Given the description of an element on the screen output the (x, y) to click on. 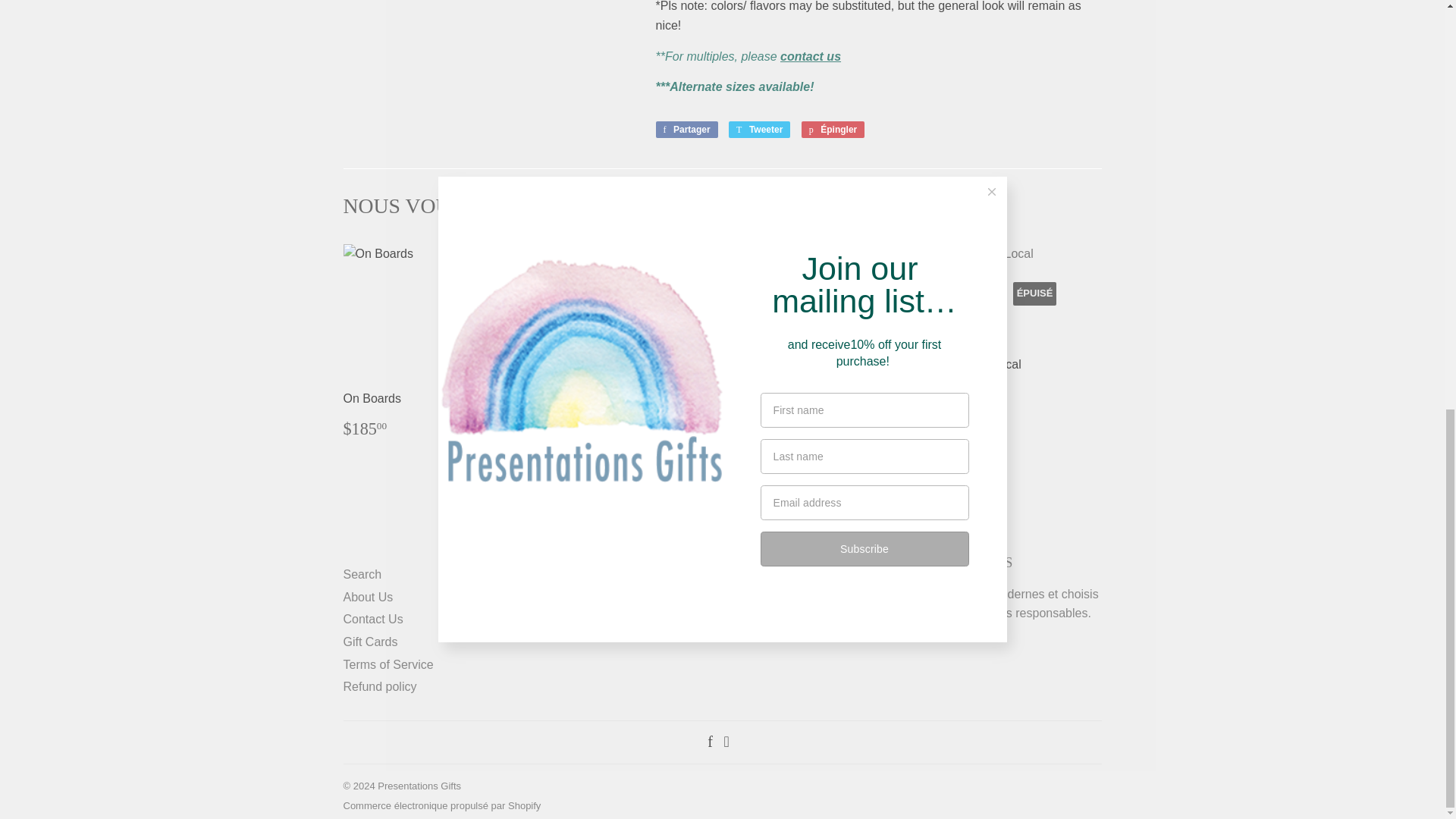
Tweeter sur Twitter (759, 129)
Partager sur Facebook (686, 129)
contact us (810, 56)
